Given the description of an element on the screen output the (x, y) to click on. 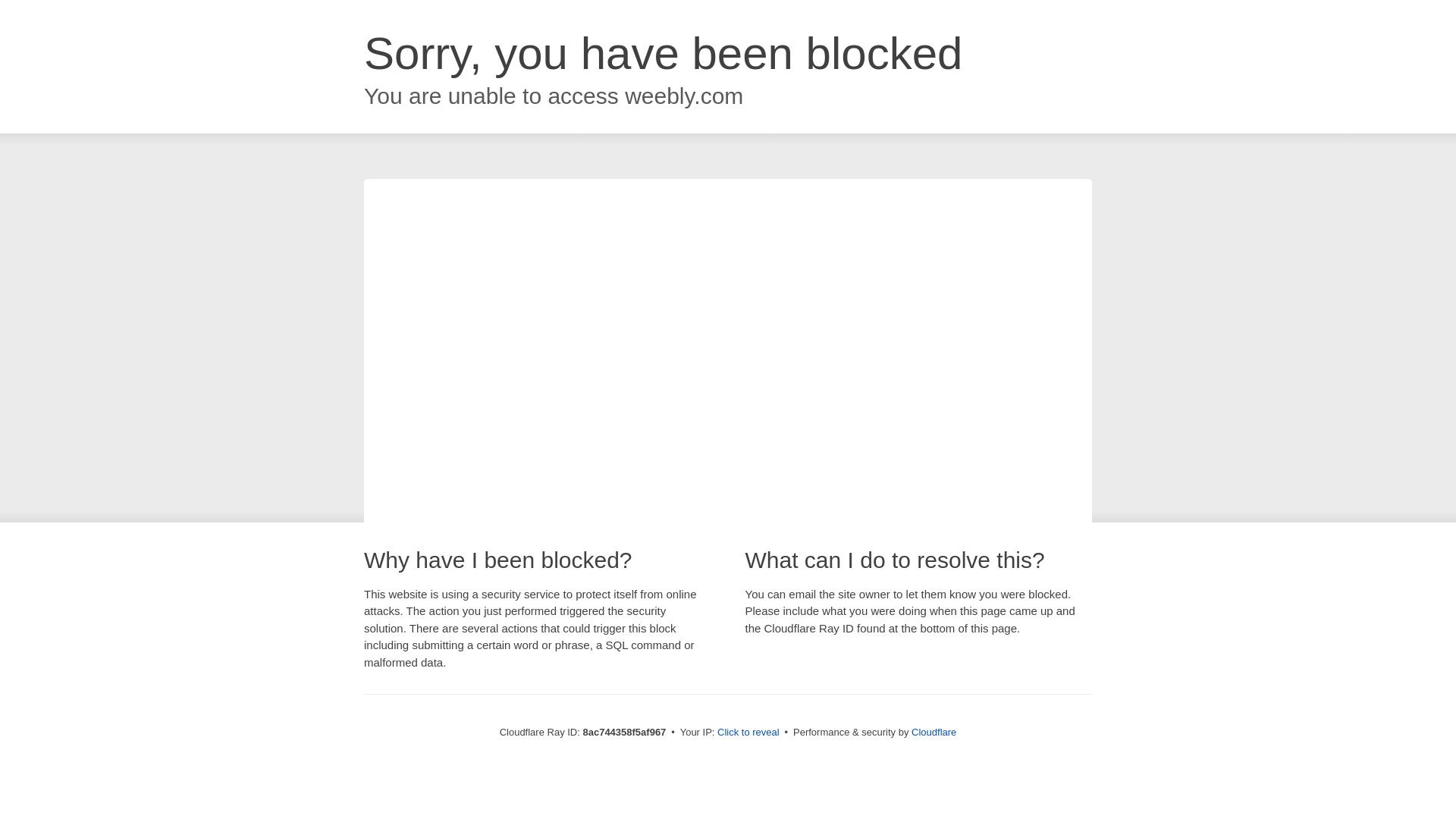
Click to reveal (747, 732)
Cloudflare (933, 731)
